Given the description of an element on the screen output the (x, y) to click on. 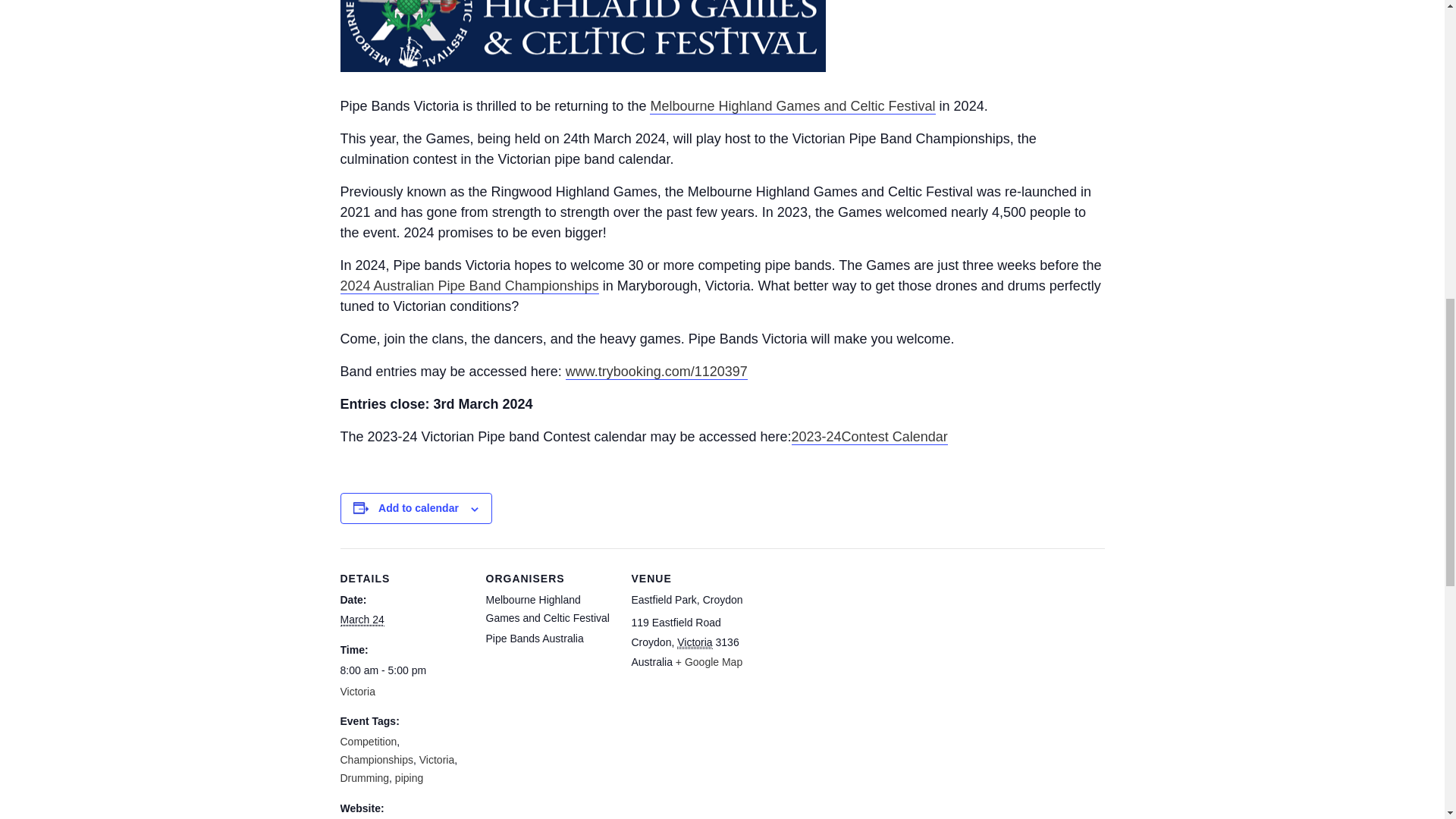
2024-03-24 (403, 670)
Victoria (694, 642)
Click to view a Google Map (708, 662)
2024-03-24 (361, 619)
